Given the description of an element on the screen output the (x, y) to click on. 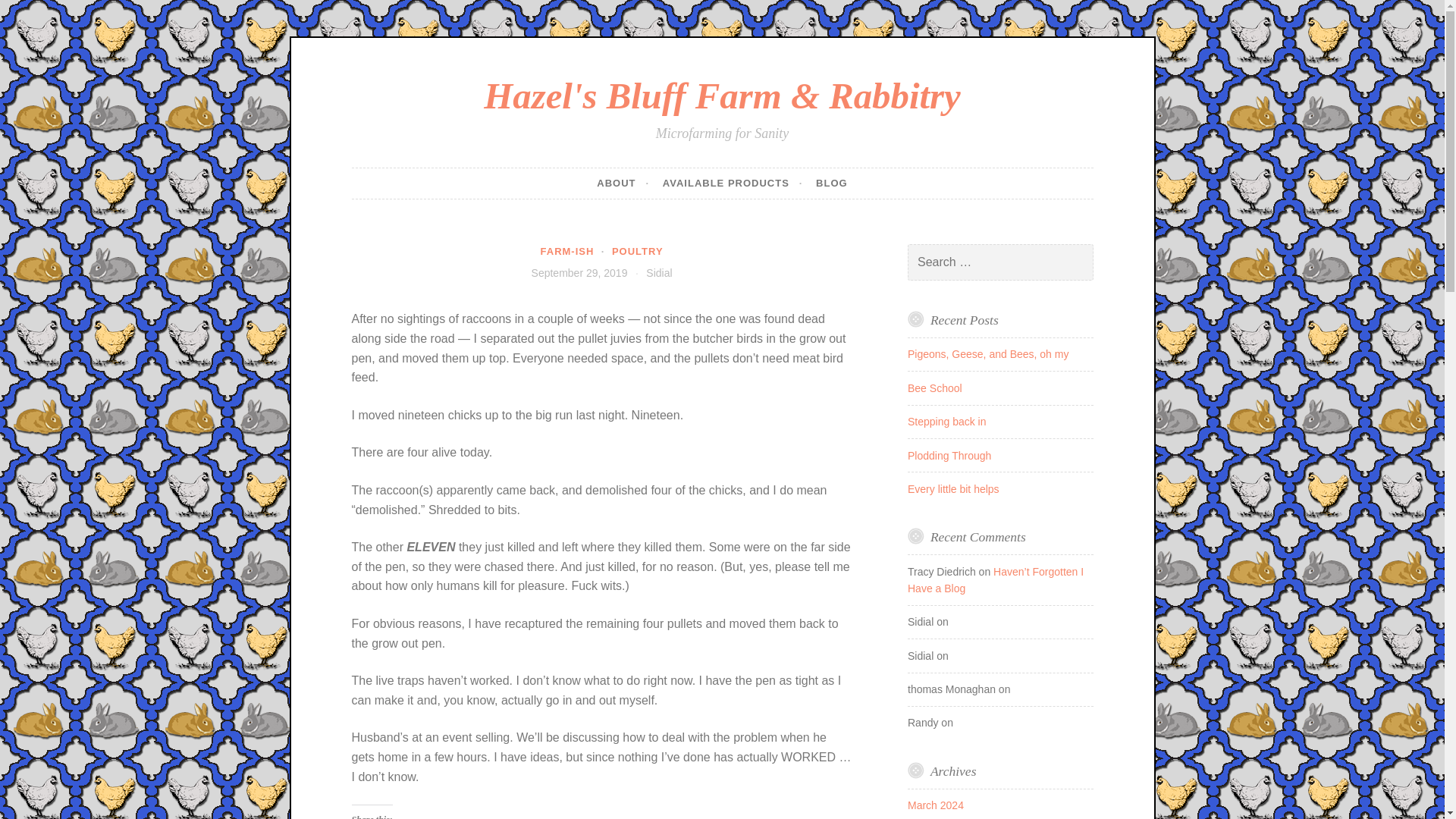
POULTRY (637, 251)
ABOUT (622, 183)
FARM-ISH (567, 251)
BLOG (831, 183)
Search (33, 13)
March 2024 (935, 805)
AVAILABLE PRODUCTS (732, 183)
Bee School (934, 387)
Plodding Through (949, 454)
Pigeons, Geese, and Bees, oh my (987, 354)
Every little bit helps (952, 489)
Sidial (658, 272)
September 29, 2019 (579, 272)
Stepping back in (947, 421)
